Given the description of an element on the screen output the (x, y) to click on. 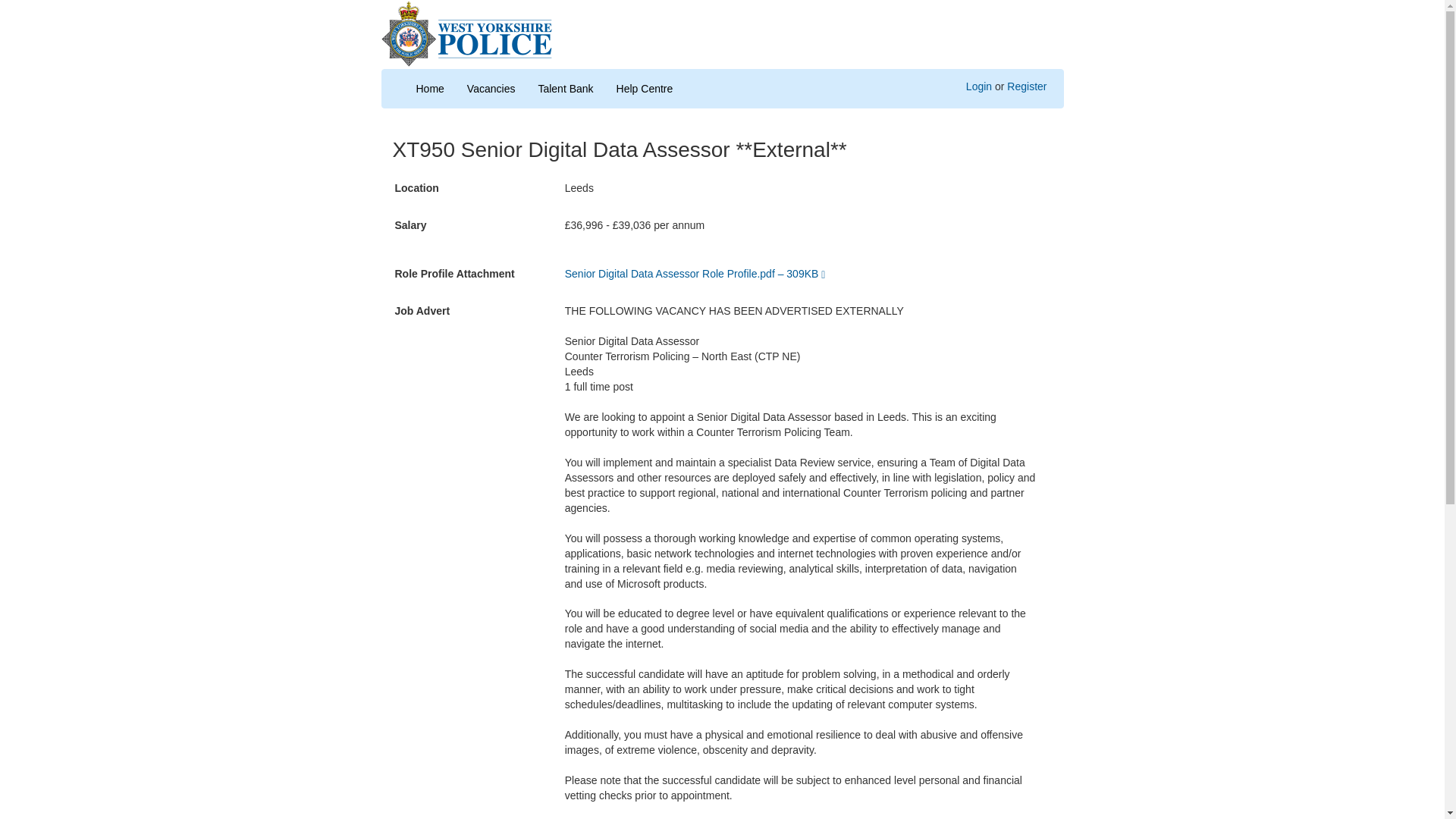
Register (1026, 86)
Help Centre (644, 88)
Home (429, 88)
Login (978, 86)
Vacancies (491, 88)
Talent Bank (564, 88)
